Given the description of an element on the screen output the (x, y) to click on. 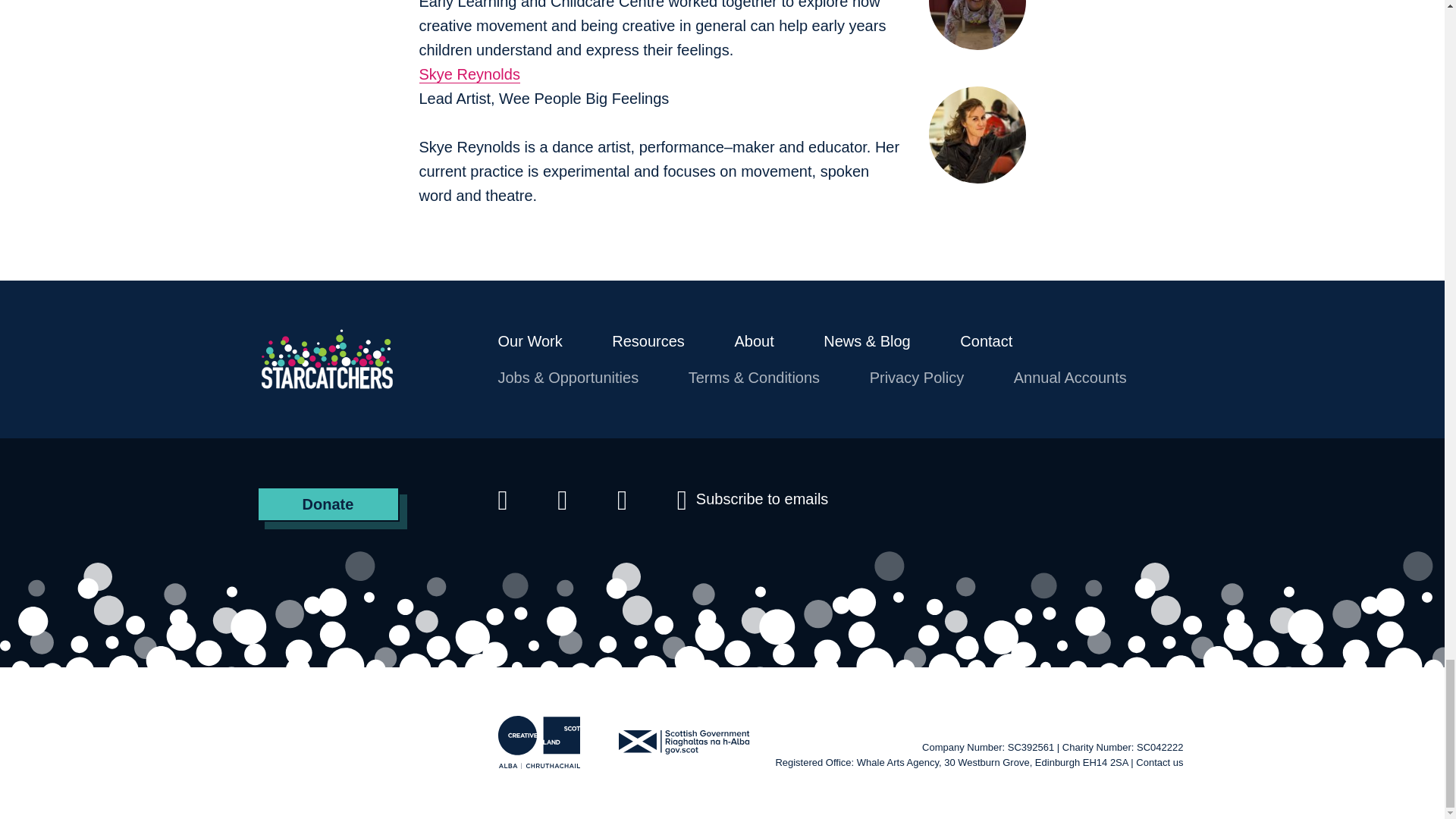
Our Work (529, 340)
Resources (647, 340)
Skye Reynolds (469, 74)
